Given the description of an element on the screen output the (x, y) to click on. 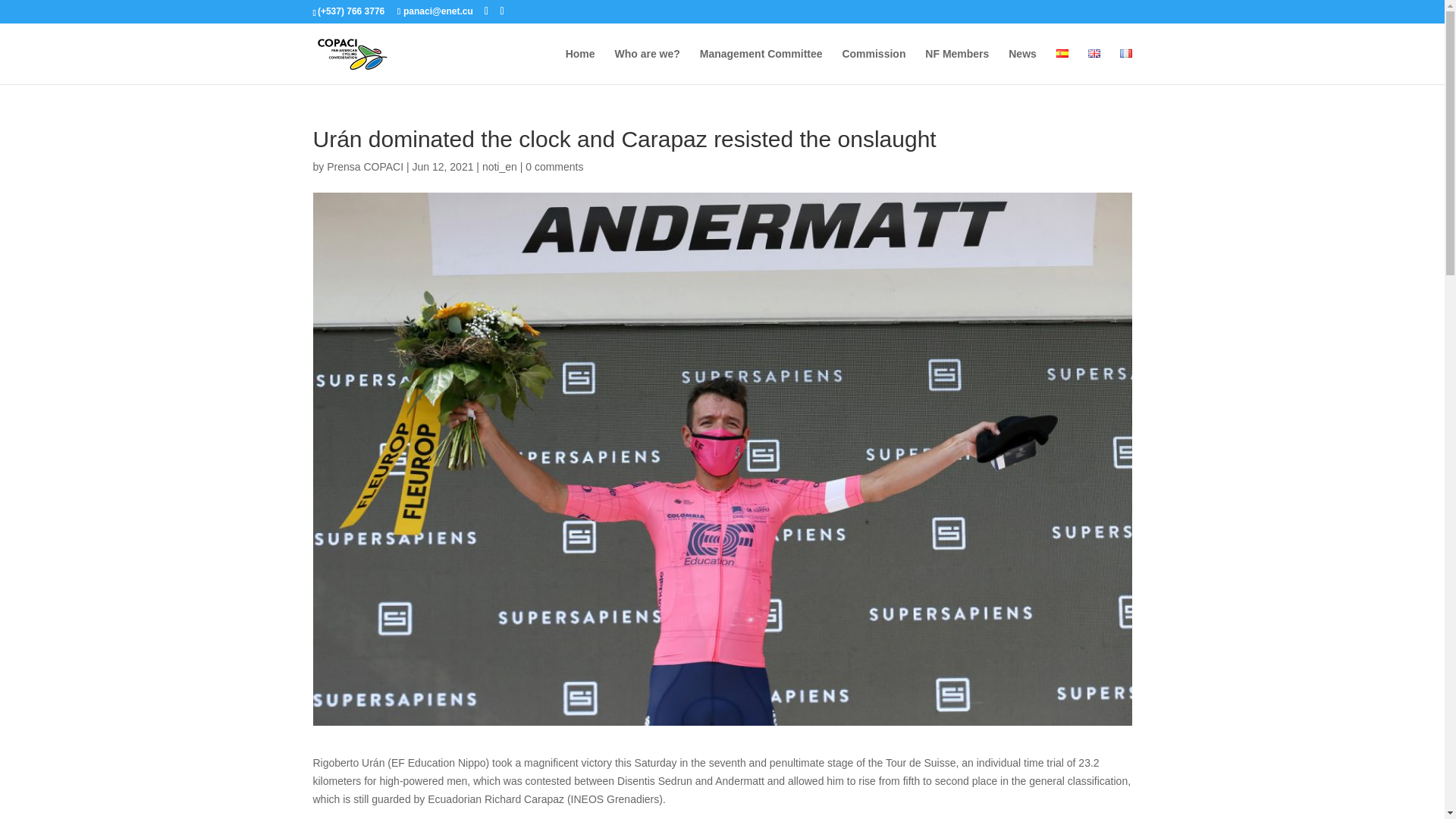
0 comments (554, 166)
Who are we? (646, 66)
NF Members (956, 66)
Commission (873, 66)
Posts by Prensa COPACI (364, 166)
Management Committee (761, 66)
Prensa COPACI (364, 166)
